Given the description of an element on the screen output the (x, y) to click on. 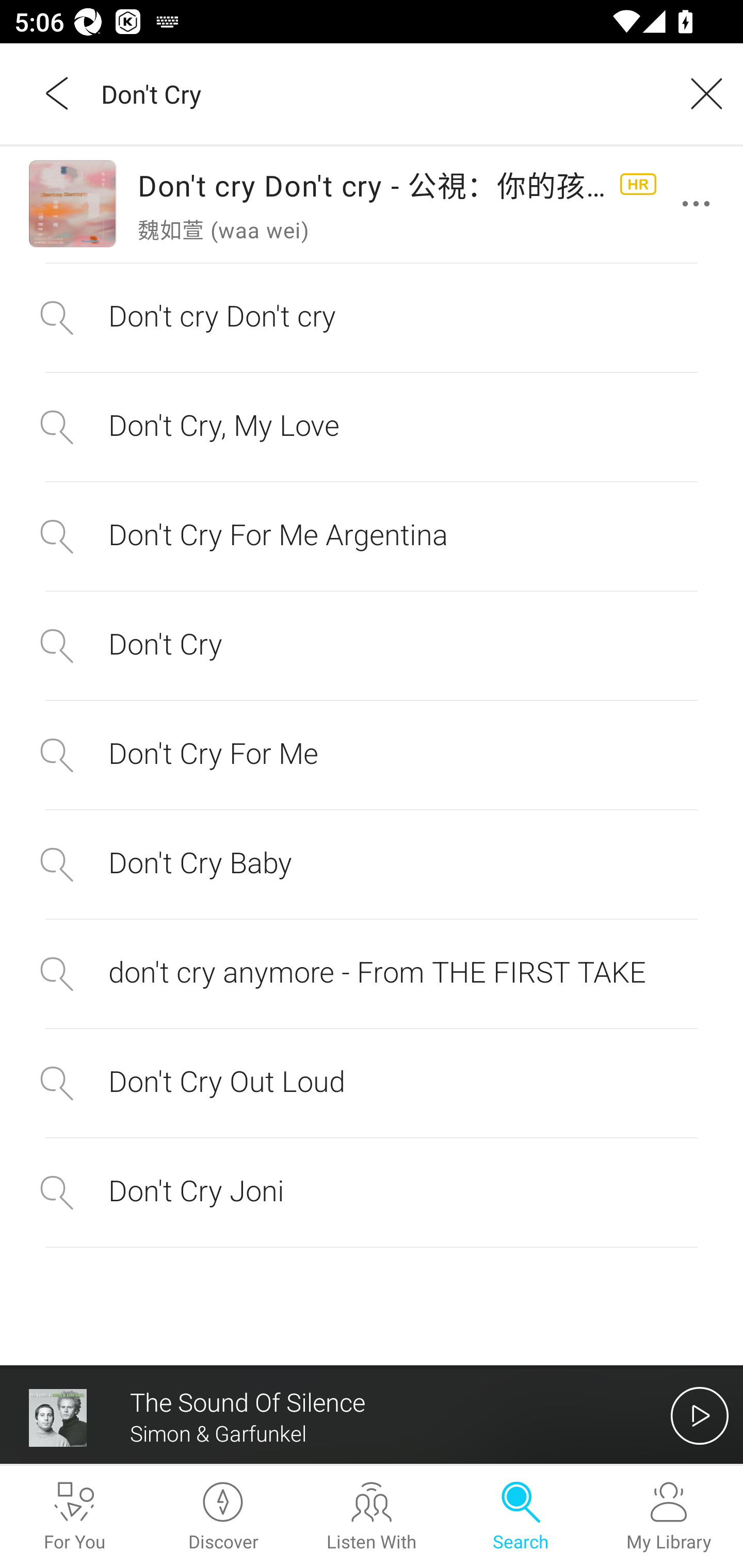
Don't Cry (378, 92)
Clear query (699, 92)
Back,outside of the list (57, 93)
更多操作選項 (699, 203)
Don't cry Don't cry (371, 317)
Don't Cry, My Love (371, 427)
Don't Cry For Me Argentina (371, 536)
Don't Cry (371, 645)
Don't Cry For Me (371, 754)
Don't Cry Baby (371, 864)
don't cry anymore - From THE FIRST TAKE (371, 974)
Don't Cry Out Loud (371, 1082)
Don't Cry Joni (371, 1192)
開始播放 (699, 1415)
For You (74, 1517)
Discover (222, 1517)
Listen With (371, 1517)
Search (519, 1517)
My Library (668, 1517)
